Given the description of an element on the screen output the (x, y) to click on. 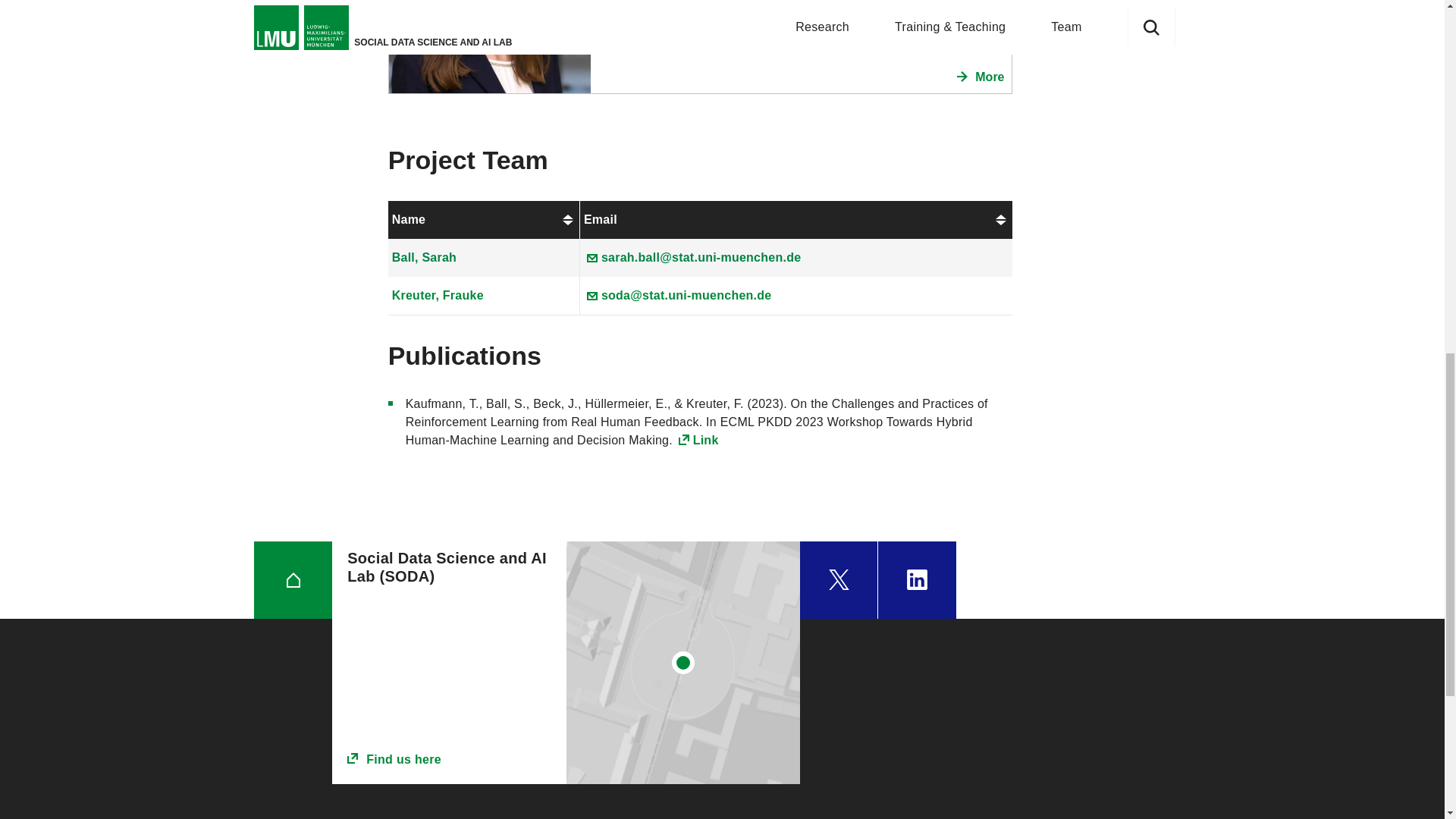
LinkedIn (916, 580)
Link (698, 440)
Home (292, 580)
Plan section LMU main building (683, 662)
Ball, Sarah (424, 256)
More (980, 76)
LinkedIn-Link opens in a new window (916, 580)
Kreuter, Frauke (437, 295)
Twitter (838, 580)
Twitter-Link opens in a new window (838, 580)
Find us here (449, 760)
